Given the description of an element on the screen output the (x, y) to click on. 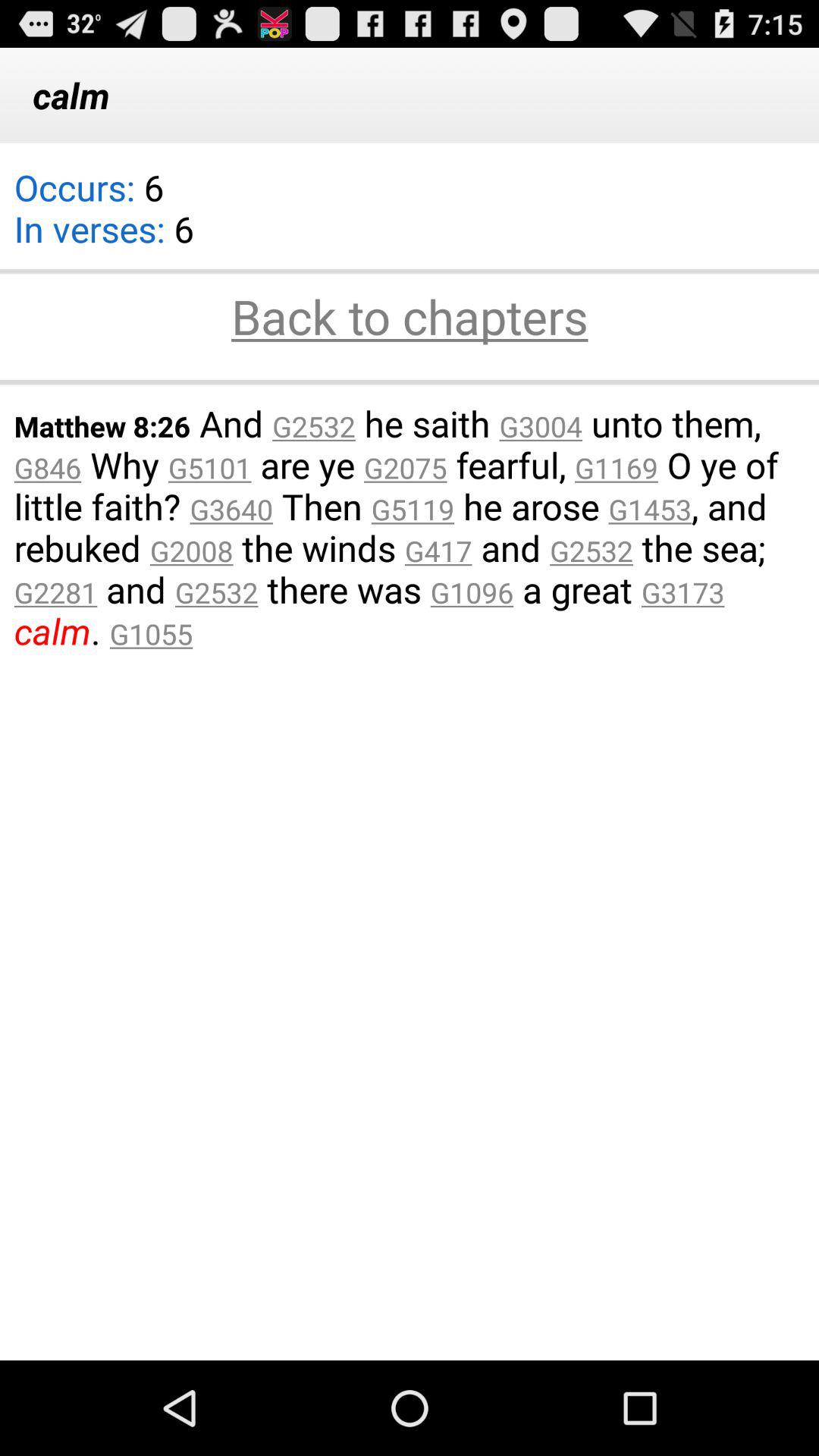
scroll to matthew 8 26 app (409, 527)
